Given the description of an element on the screen output the (x, y) to click on. 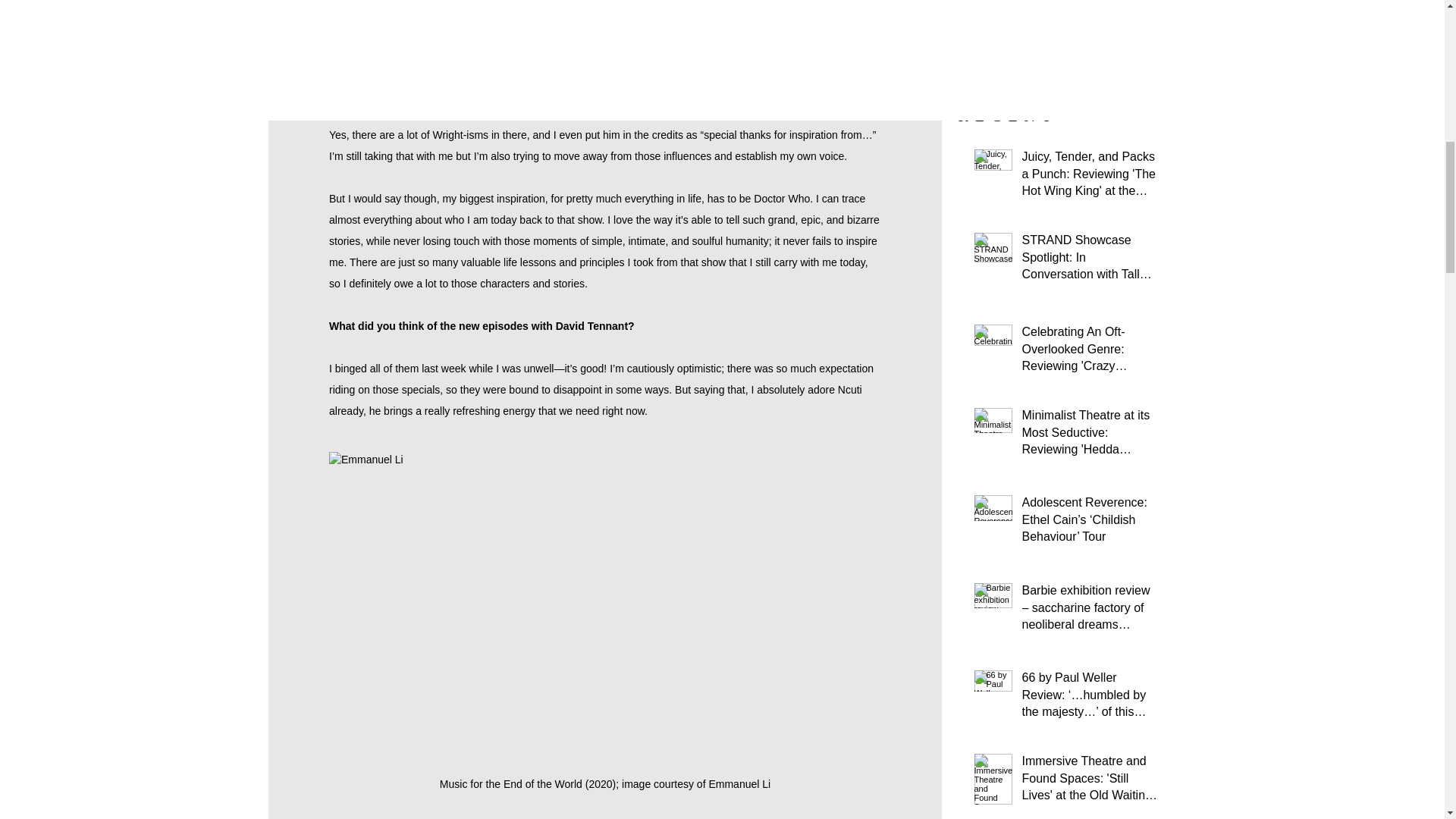
STRAND Showcase Spotlight: In Conversation with Tally Spear (1089, 260)
